Given the description of an element on the screen output the (x, y) to click on. 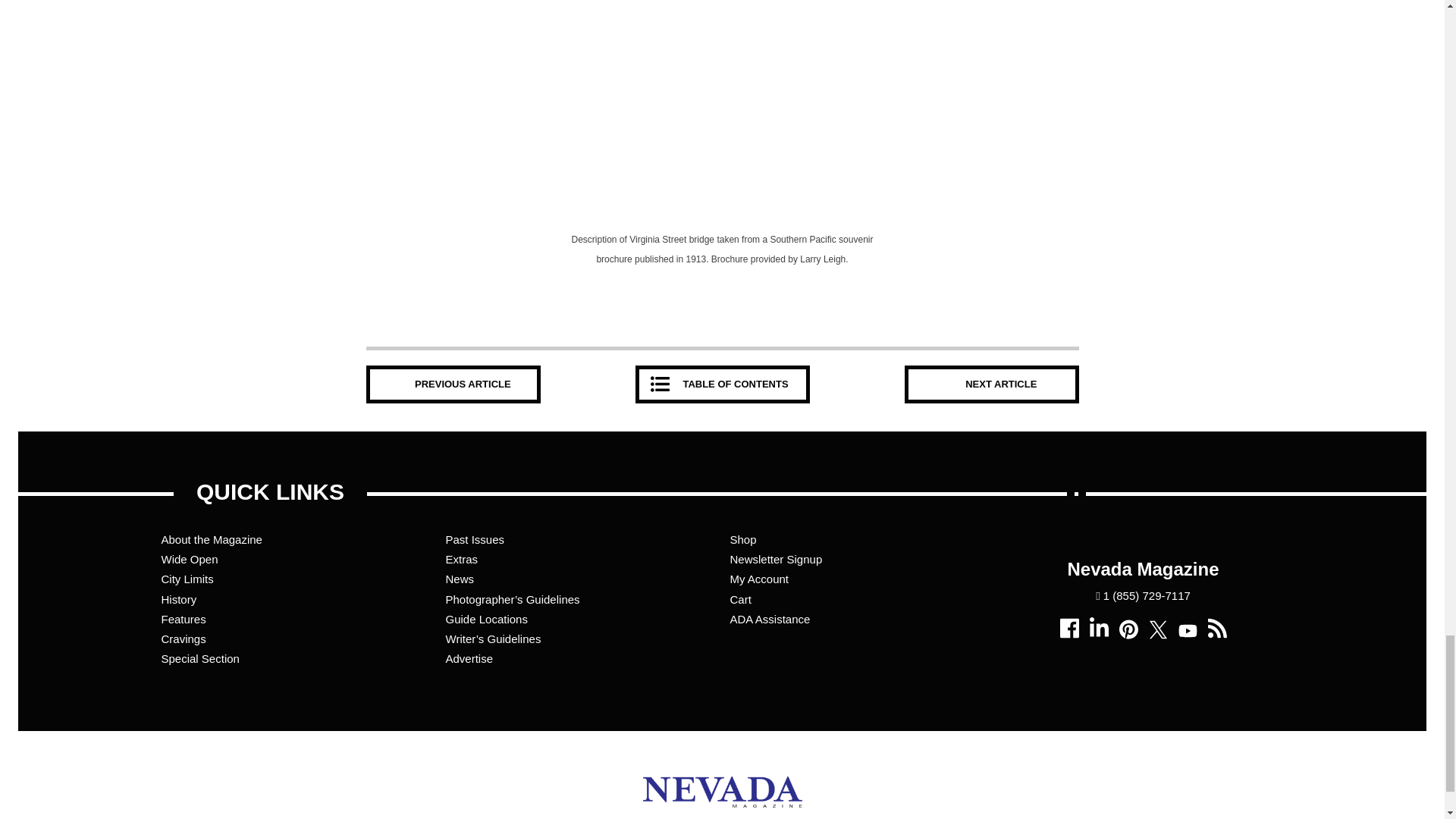
Nevada Magazine (722, 809)
